Given the description of an element on the screen output the (x, y) to click on. 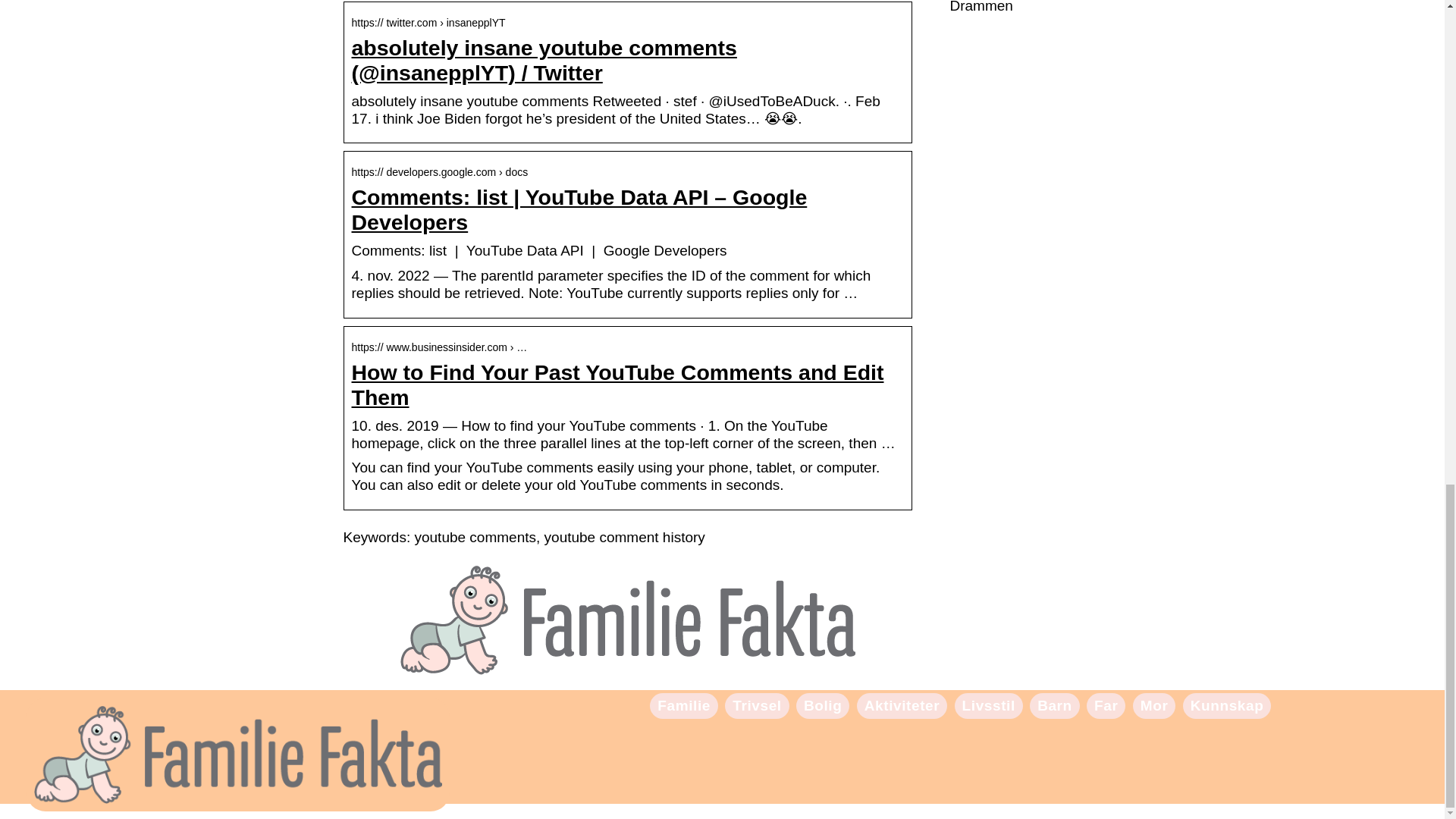
Barn (1053, 705)
Bolig (823, 705)
Kunnskap (1227, 705)
Livsstil (988, 705)
Far (1106, 705)
Trivsel (756, 705)
Familie (684, 705)
Mor (1154, 705)
Aktiviteter (902, 705)
